Given the description of an element on the screen output the (x, y) to click on. 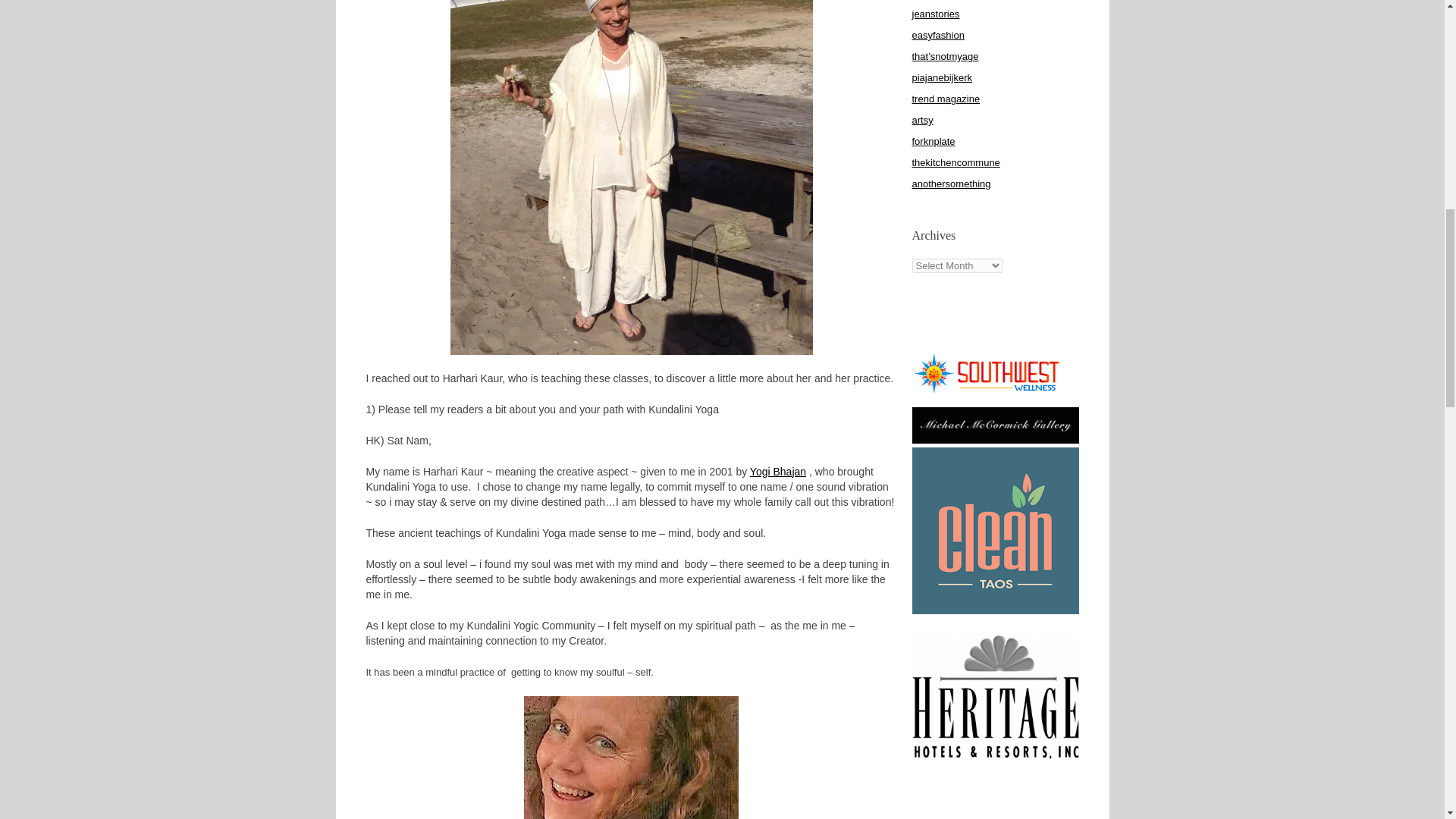
Yogi Bhajan (777, 471)
